Given the description of an element on the screen output the (x, y) to click on. 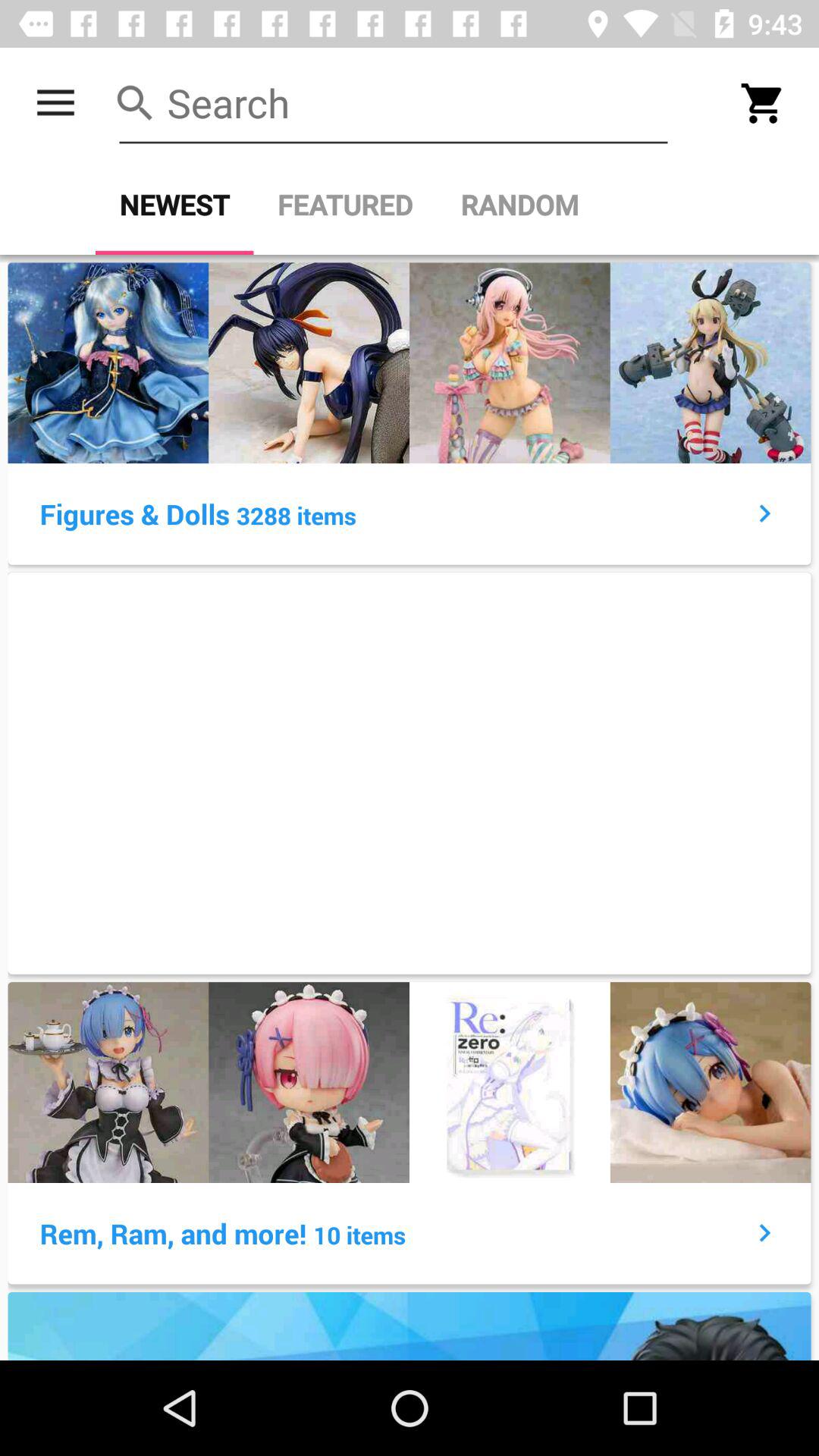
click newest (174, 204)
